Given the description of an element on the screen output the (x, y) to click on. 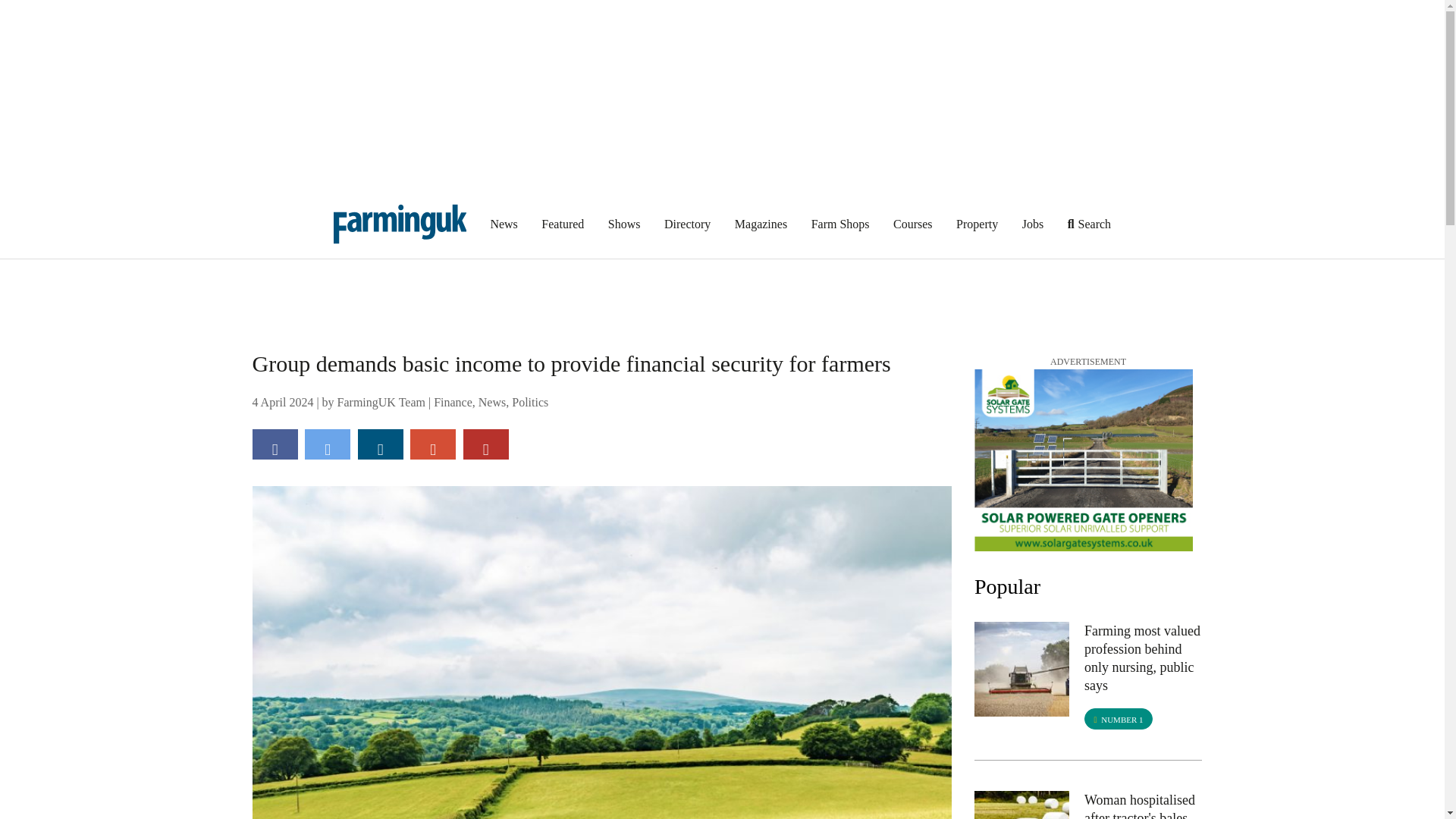
Share on Facebook (274, 444)
Search (1088, 223)
Directory (686, 223)
Featured (562, 223)
3rd party ad content (722, 293)
Farm Shops (839, 223)
Share on Twitter (327, 444)
Print (485, 444)
Courses (913, 223)
Property (976, 223)
Magazines (761, 223)
Share by Email (432, 444)
